Given the description of an element on the screen output the (x, y) to click on. 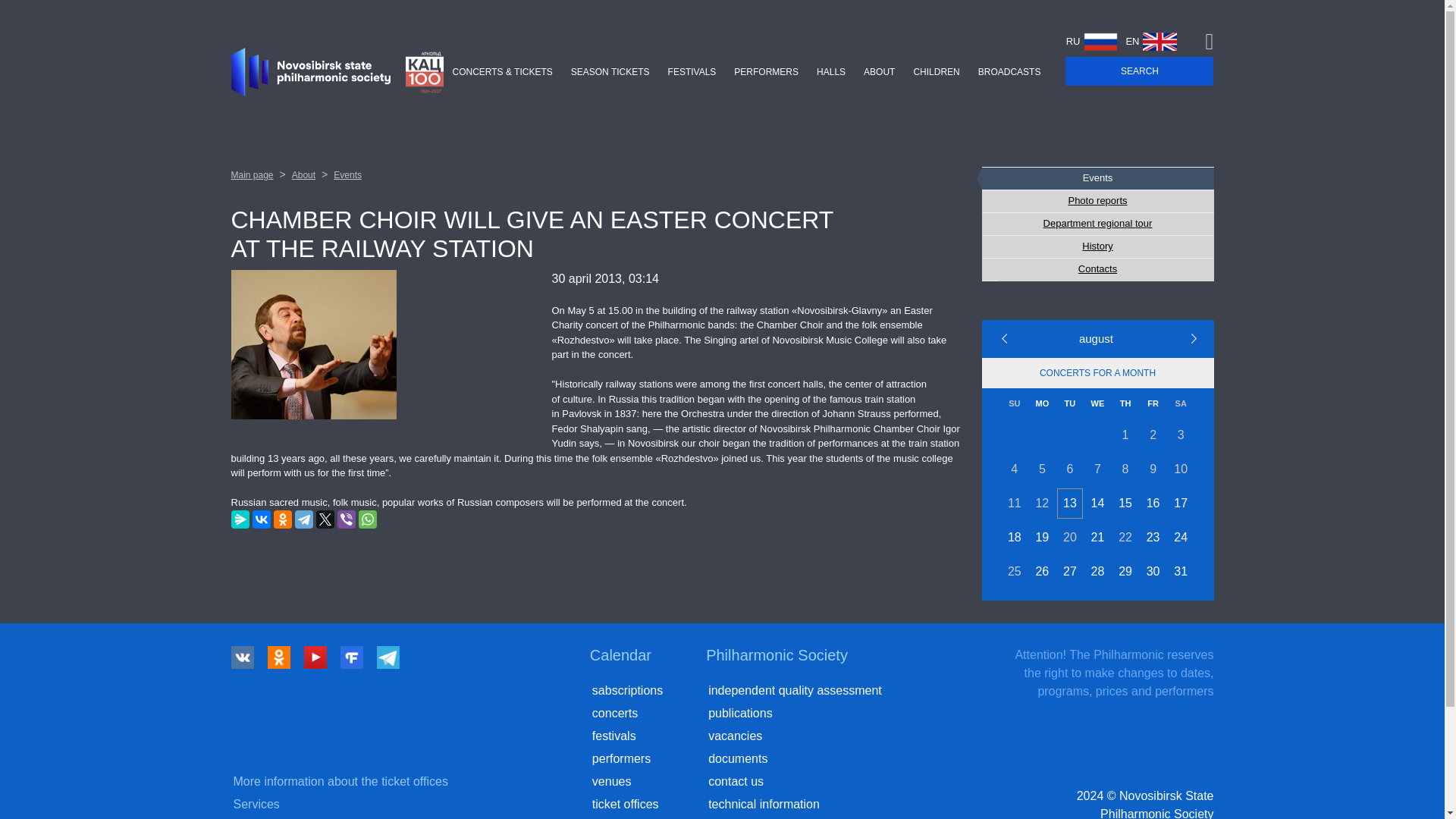
History (1096, 246)
About (303, 174)
SEARCH (1138, 70)
ABOUT (879, 71)
CHILDREN (936, 71)
Photo reports (1096, 201)
Events (1096, 178)
RU (1091, 41)
HALLS (831, 71)
SEASON TICKETS (610, 71)
